Given the description of an element on the screen output the (x, y) to click on. 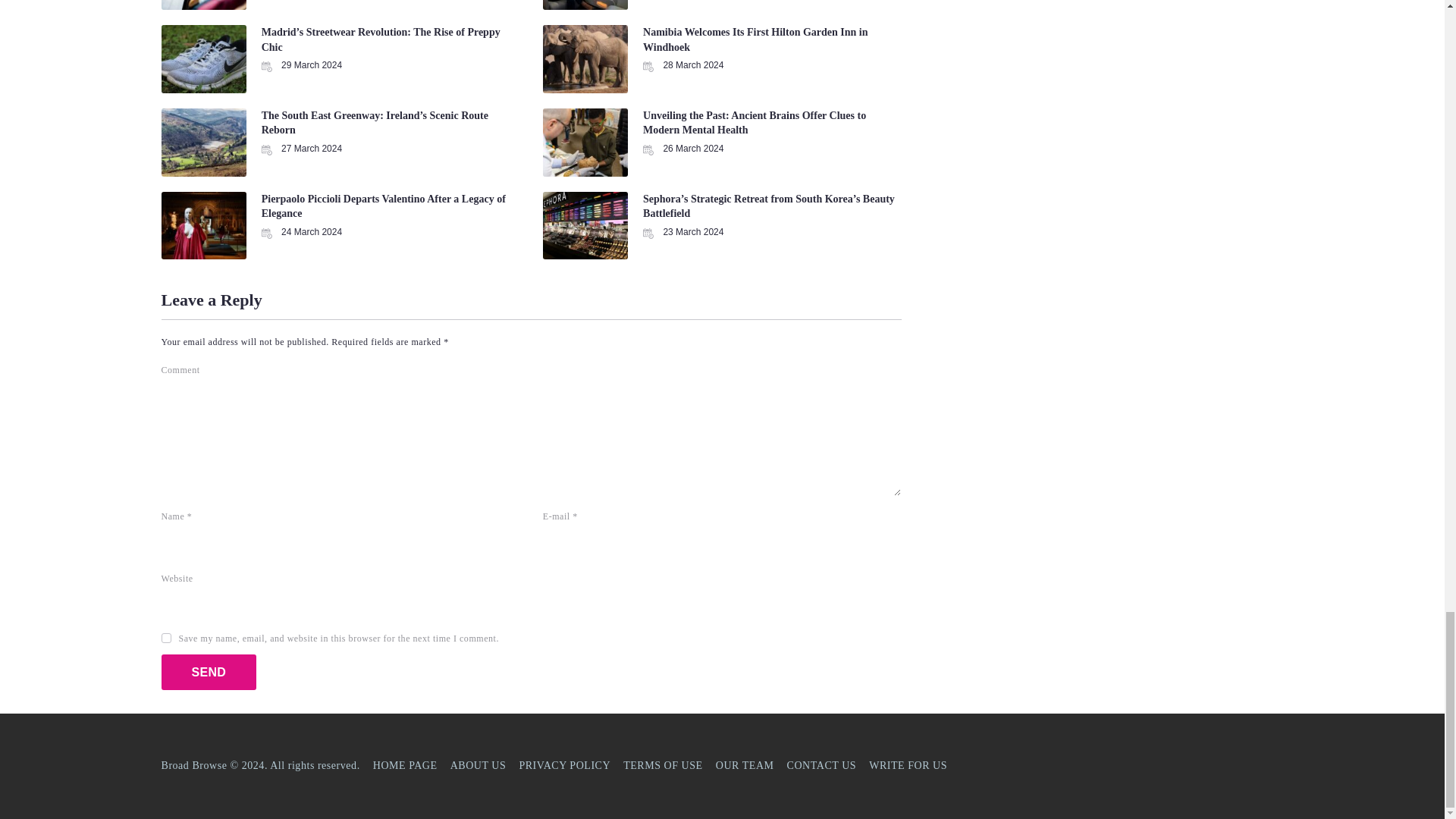
Send (208, 672)
Namibia Welcomes Its First Hilton Garden Inn in Windhoek (755, 39)
Namibia Welcomes Its First Hilton Garden Inn in Windhoek 5 (585, 59)
